Given the description of an element on the screen output the (x, y) to click on. 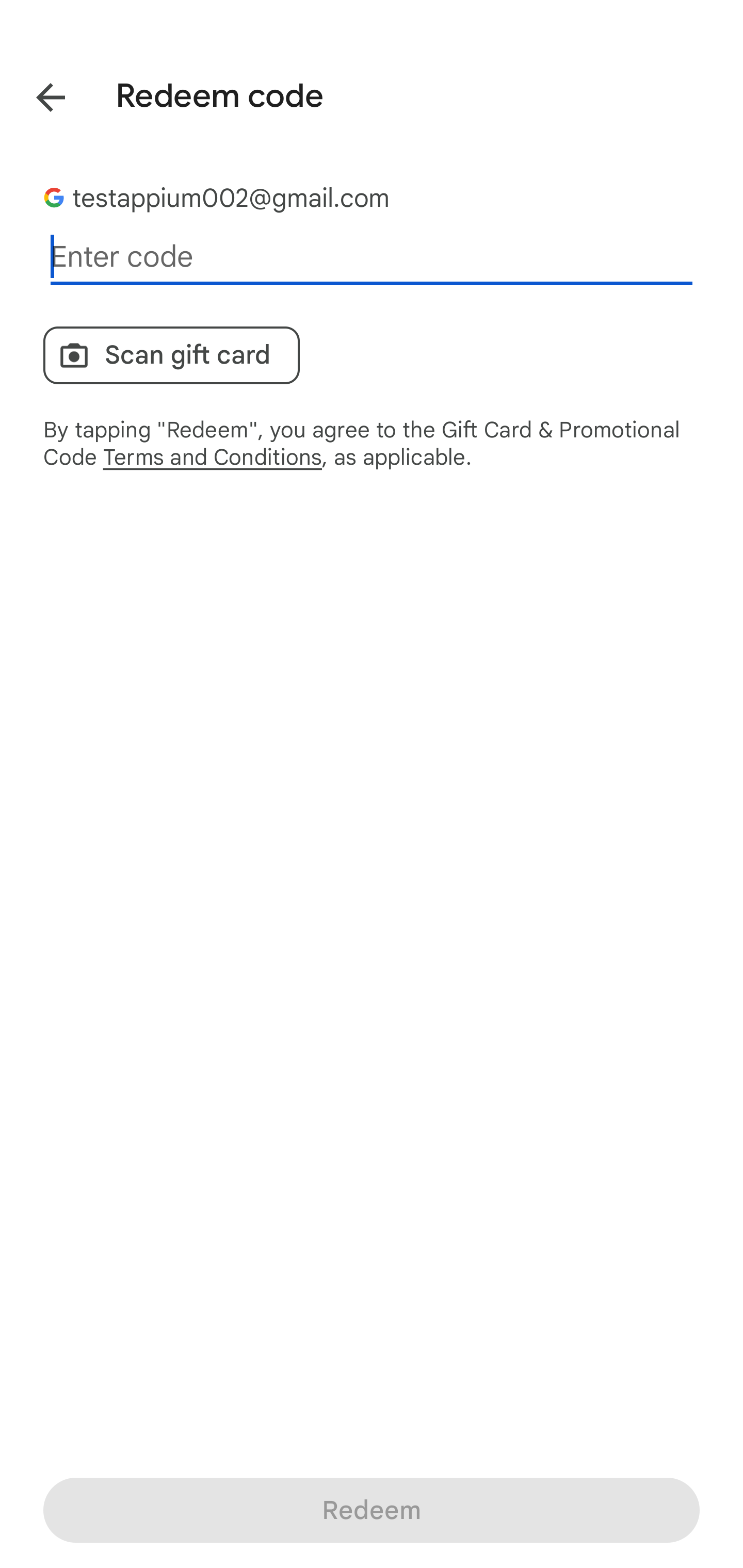
Back (36, 94)
Enter code (371, 256)
Scan gift card (171, 355)
